Given the description of an element on the screen output the (x, y) to click on. 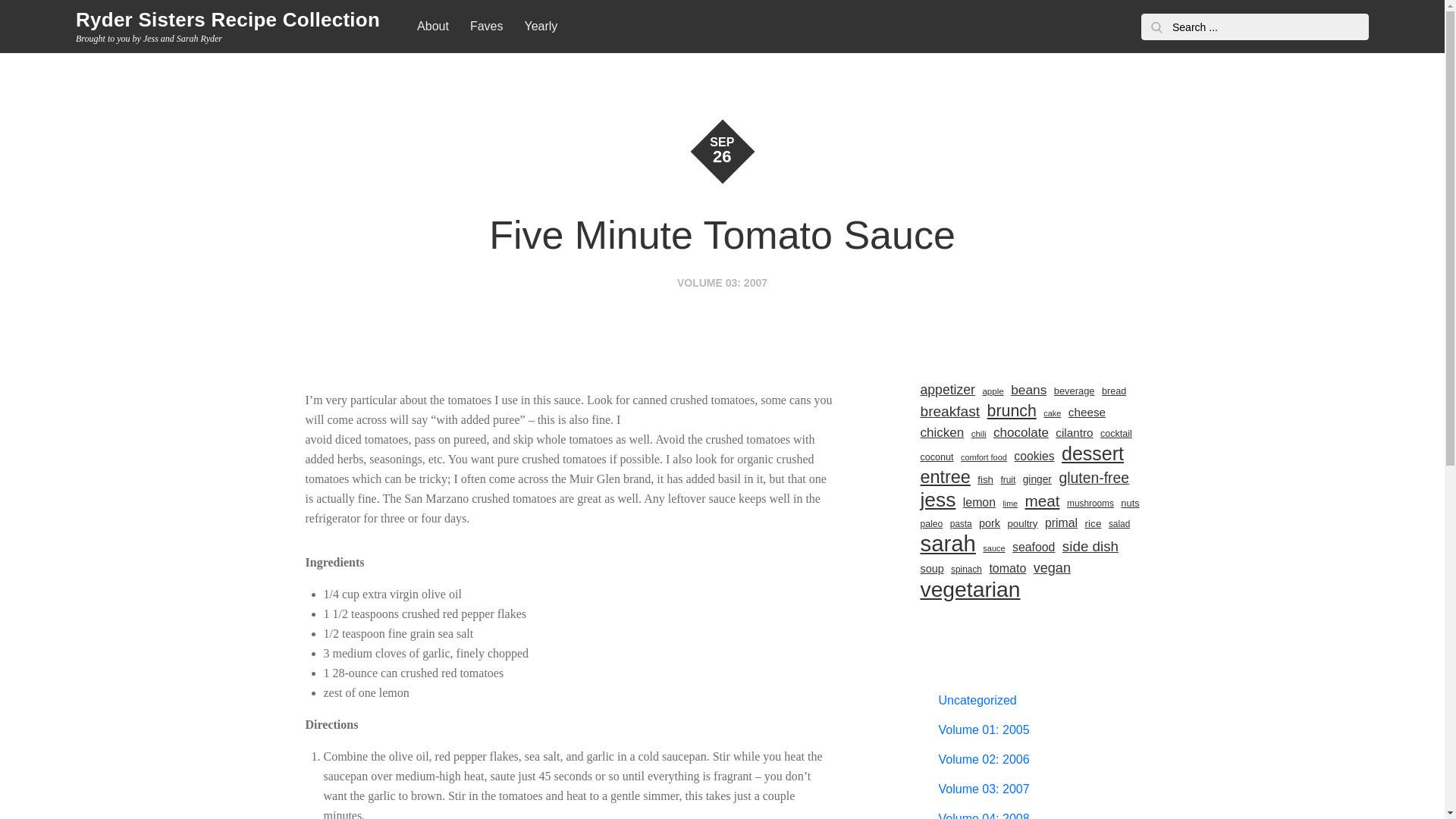
About (432, 26)
Ryder Sisters Recipe Collection (227, 19)
comfort food (983, 456)
breakfast (949, 411)
brunch (1011, 410)
Yearly (540, 26)
coconut (936, 456)
beverage (1074, 391)
cocktail (1116, 433)
dessert (1092, 453)
